Given the description of an element on the screen output the (x, y) to click on. 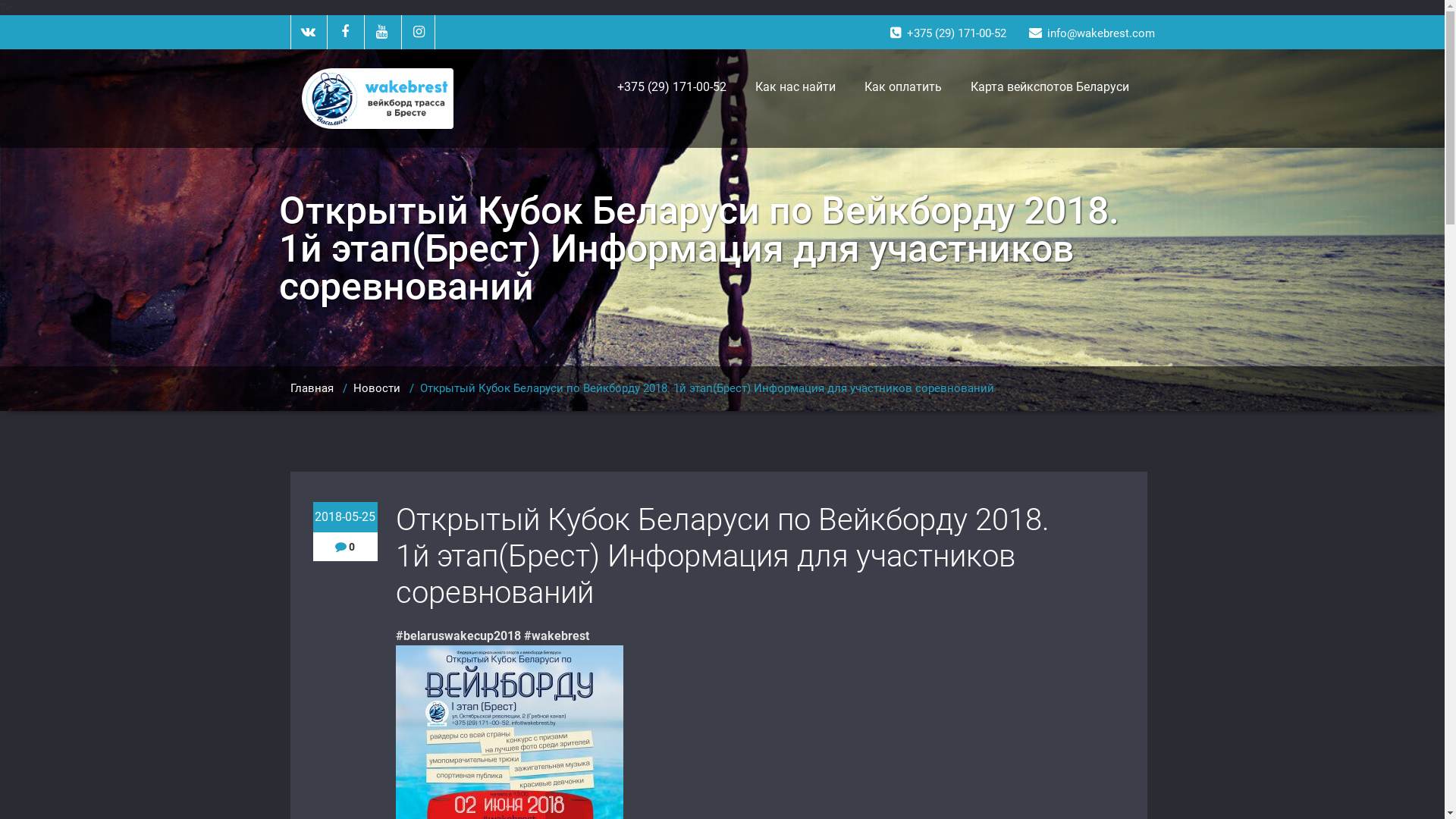
+375 (29) 171-00-52 Element type: text (671, 87)
Skip to content Element type: text (12, 0)
+375 (29) 171-00-52 Element type: text (948, 33)
info@wakebrest.com Element type: text (1091, 33)
2018-05-25 Element type: text (344, 517)
